Given the description of an element on the screen output the (x, y) to click on. 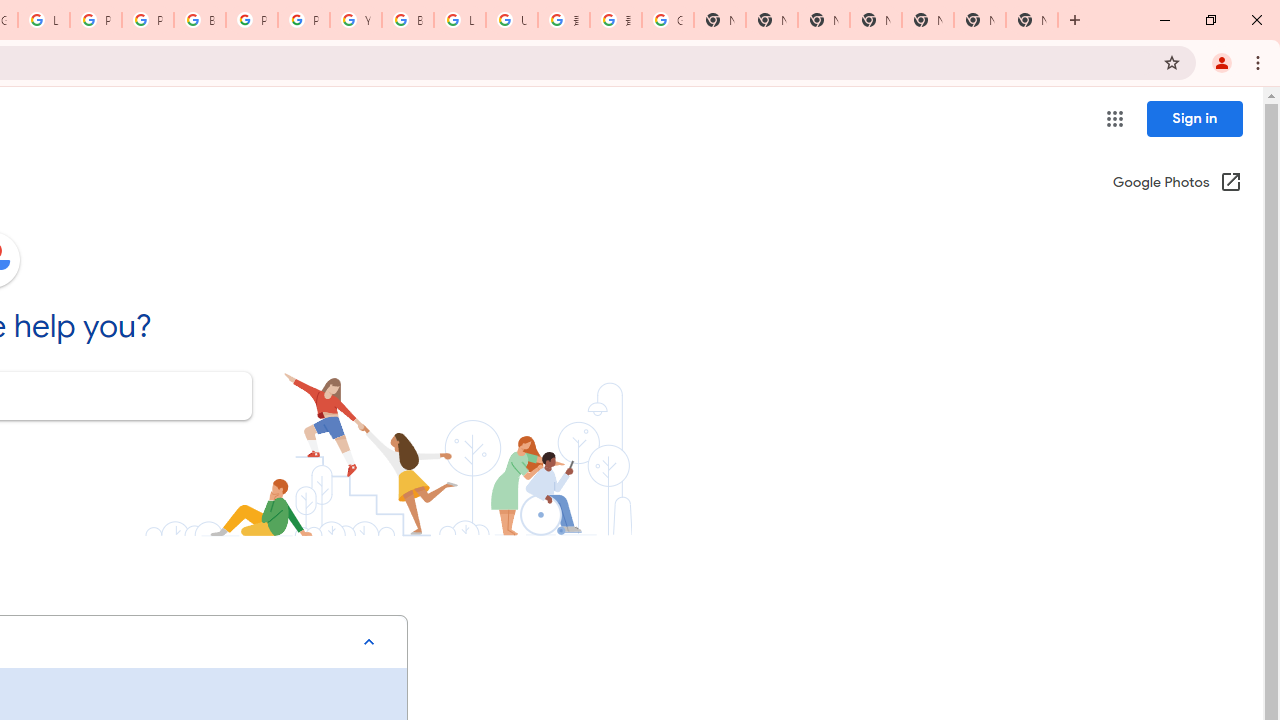
Google Images (667, 20)
